Given the description of an element on the screen output the (x, y) to click on. 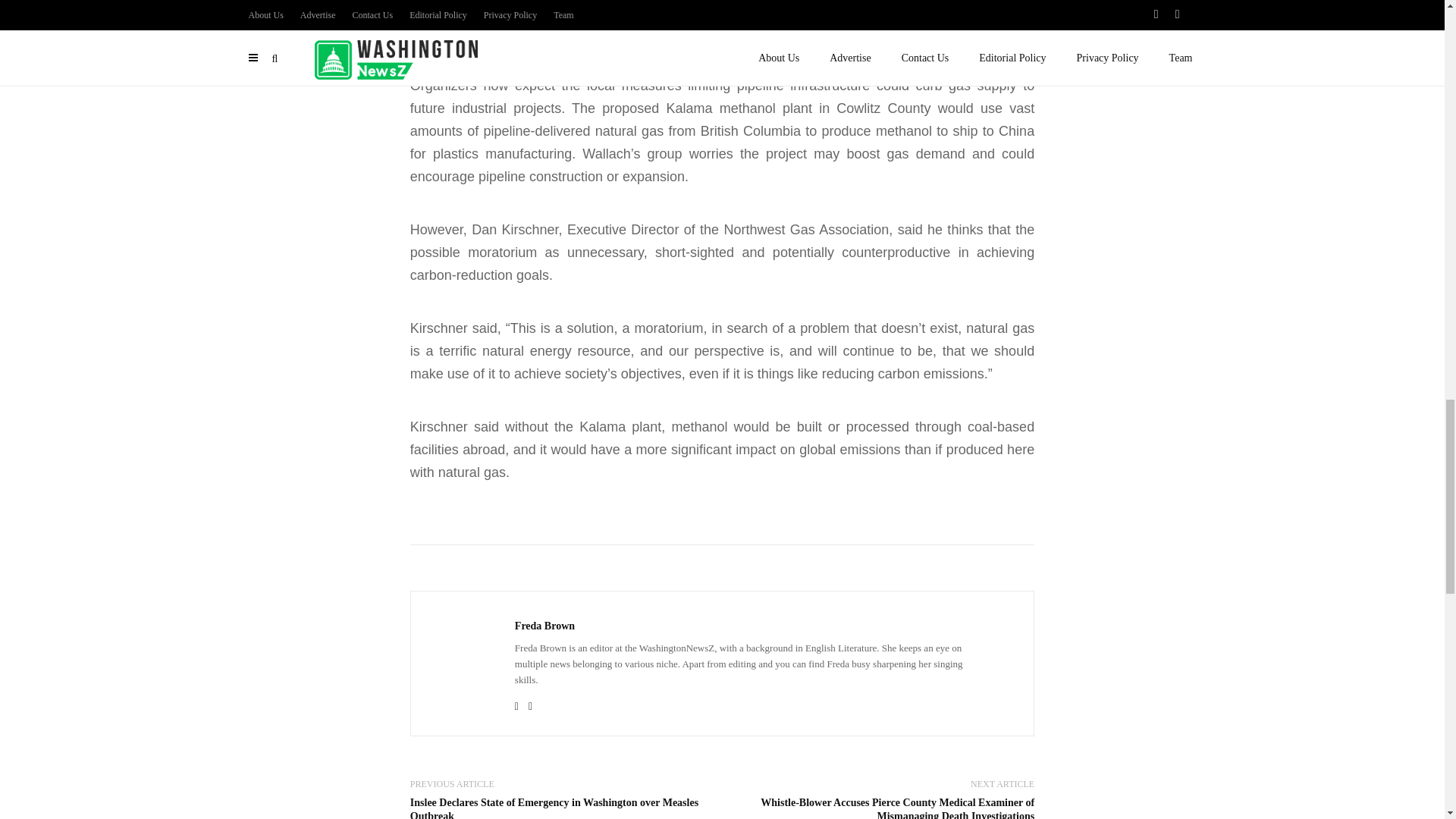
Freda Brown (545, 626)
